Given the description of an element on the screen output the (x, y) to click on. 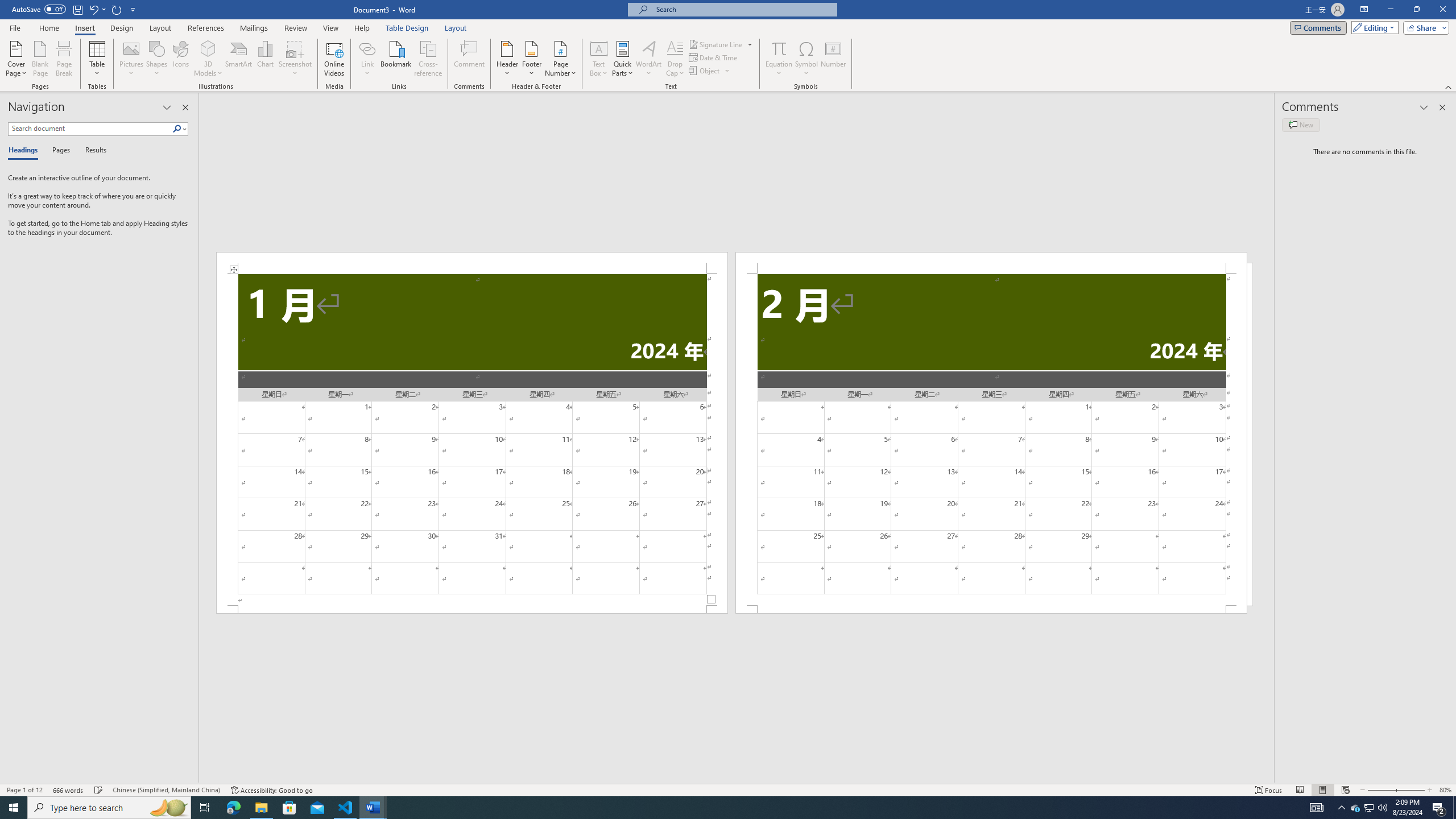
Results (91, 150)
Page Number (560, 58)
Undo Increase Indent (92, 9)
Help (361, 28)
Collapse the Ribbon (1448, 86)
Class: NetUIImage (177, 128)
Table Design (407, 28)
Spelling and Grammar Check Checking (98, 790)
SmartArt... (238, 58)
Task Pane Options (167, 107)
Word Count 666 words (68, 790)
Object... (709, 69)
Customize Quick Access Toolbar (133, 9)
3D Models (208, 48)
